Given the description of an element on the screen output the (x, y) to click on. 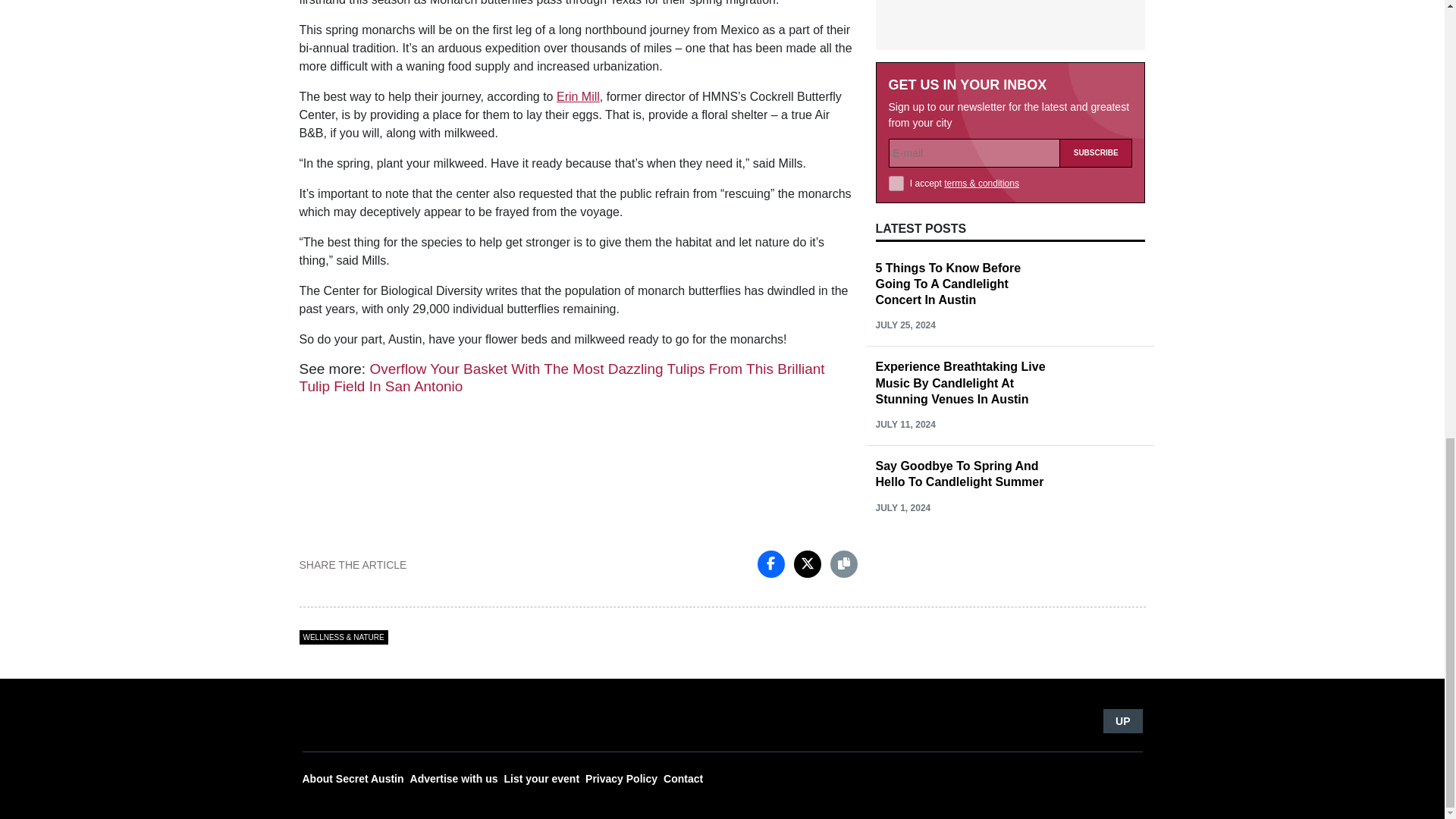
Say Goodbye To Spring And Hello To Candlelight Summer (959, 473)
1 (896, 183)
Subscribe (1095, 153)
JULY 25, 2024 (904, 325)
JULY 1, 2024 (902, 507)
Subscribe (1095, 153)
Erin Mill (577, 96)
UP (1122, 721)
About Secret Austin (352, 779)
Advertise with us (453, 779)
JULY 11, 2024 (904, 424)
List your event (541, 779)
